Given the description of an element on the screen output the (x, y) to click on. 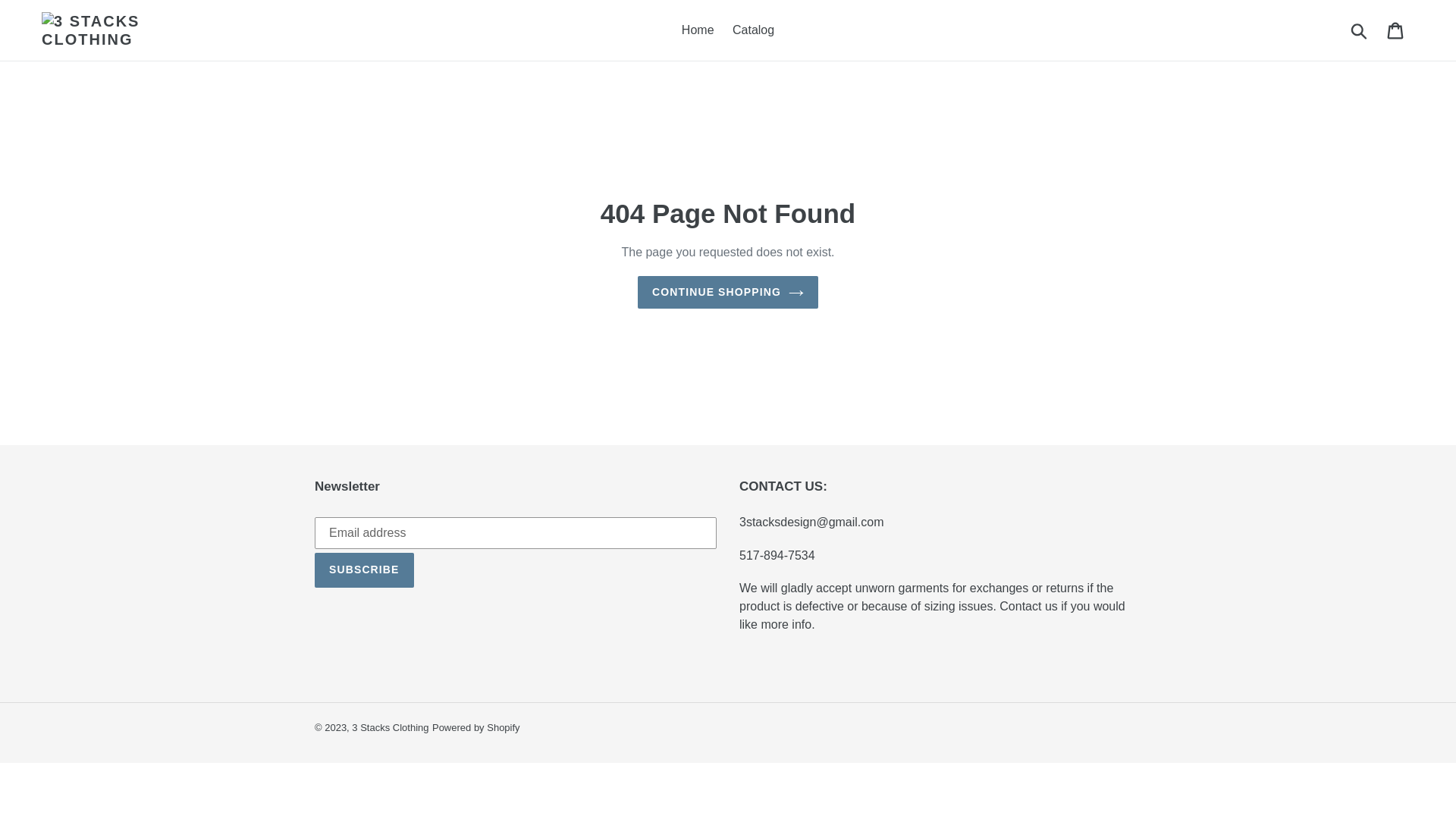
Catalog Element type: text (752, 29)
Home Element type: text (697, 29)
CONTINUE SHOPPING Element type: text (727, 292)
Powered by Shopify Element type: text (476, 727)
3 Stacks Clothing Element type: text (389, 727)
Cart Element type: text (1396, 30)
Submit Element type: text (1359, 30)
SUBSCRIBE Element type: text (364, 569)
